Given the description of an element on the screen output the (x, y) to click on. 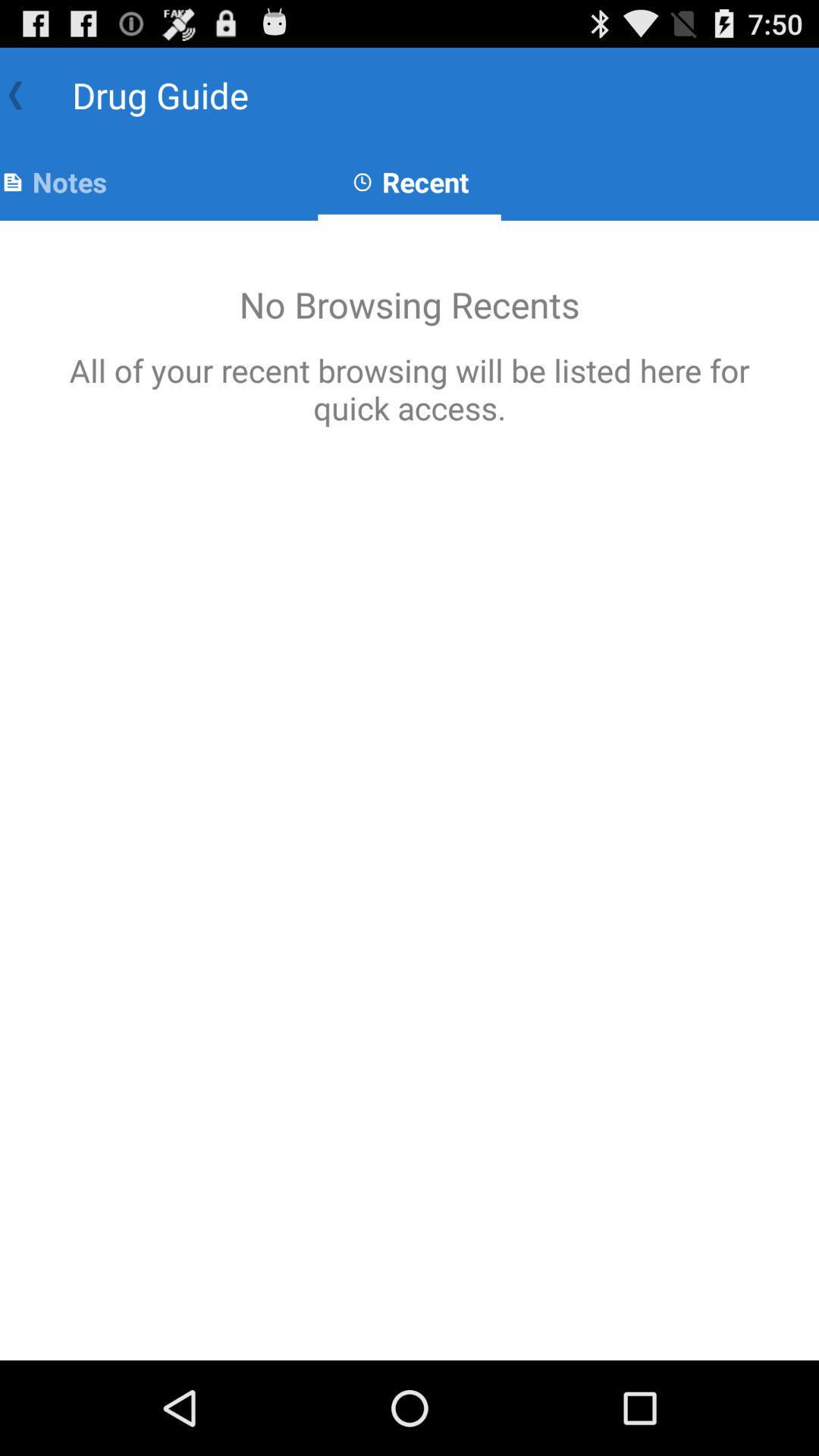
choose app next to   recent icon (53, 181)
